Given the description of an element on the screen output the (x, y) to click on. 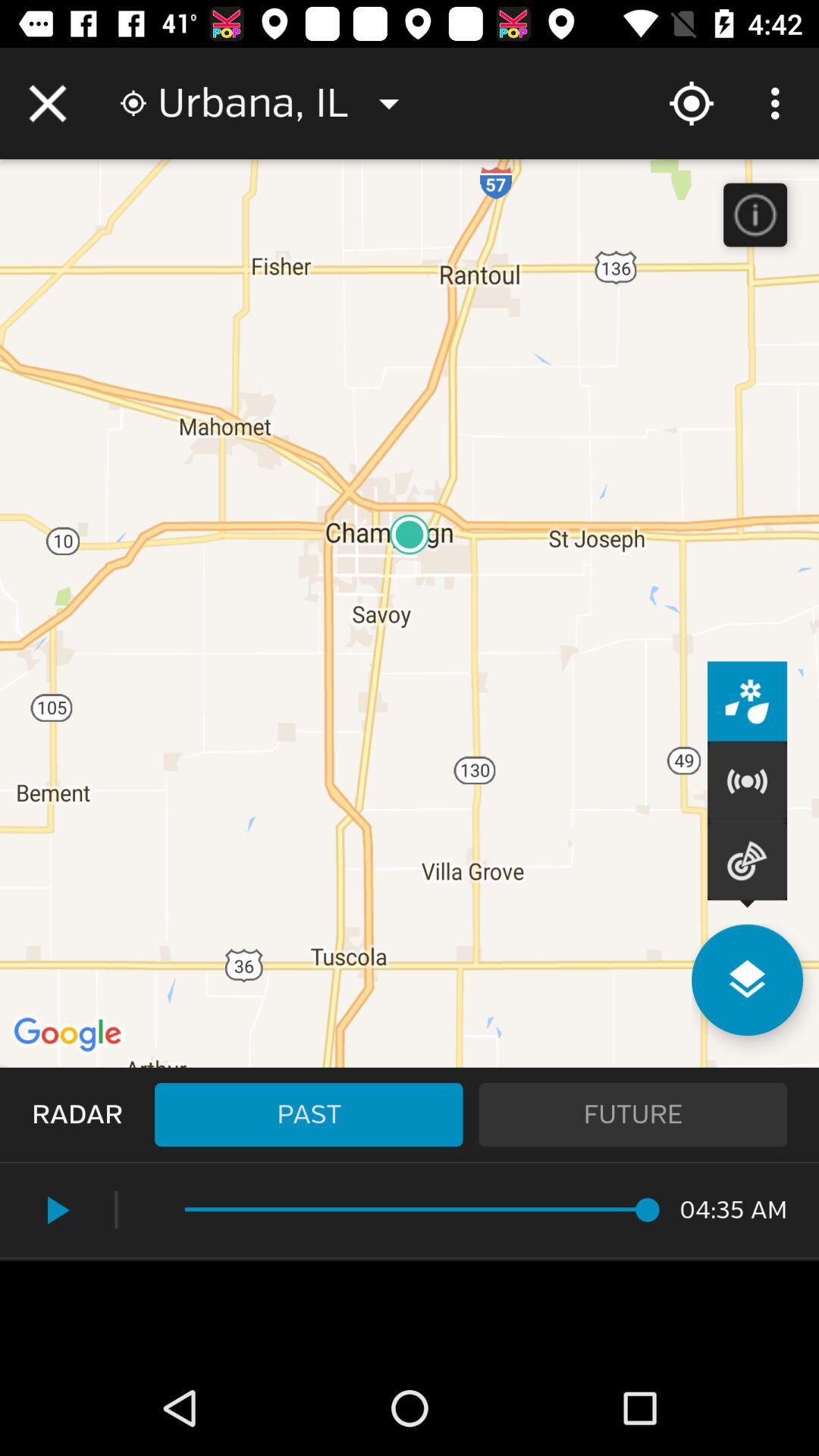
tap the icon next to the | (55, 1210)
